Given the description of an element on the screen output the (x, y) to click on. 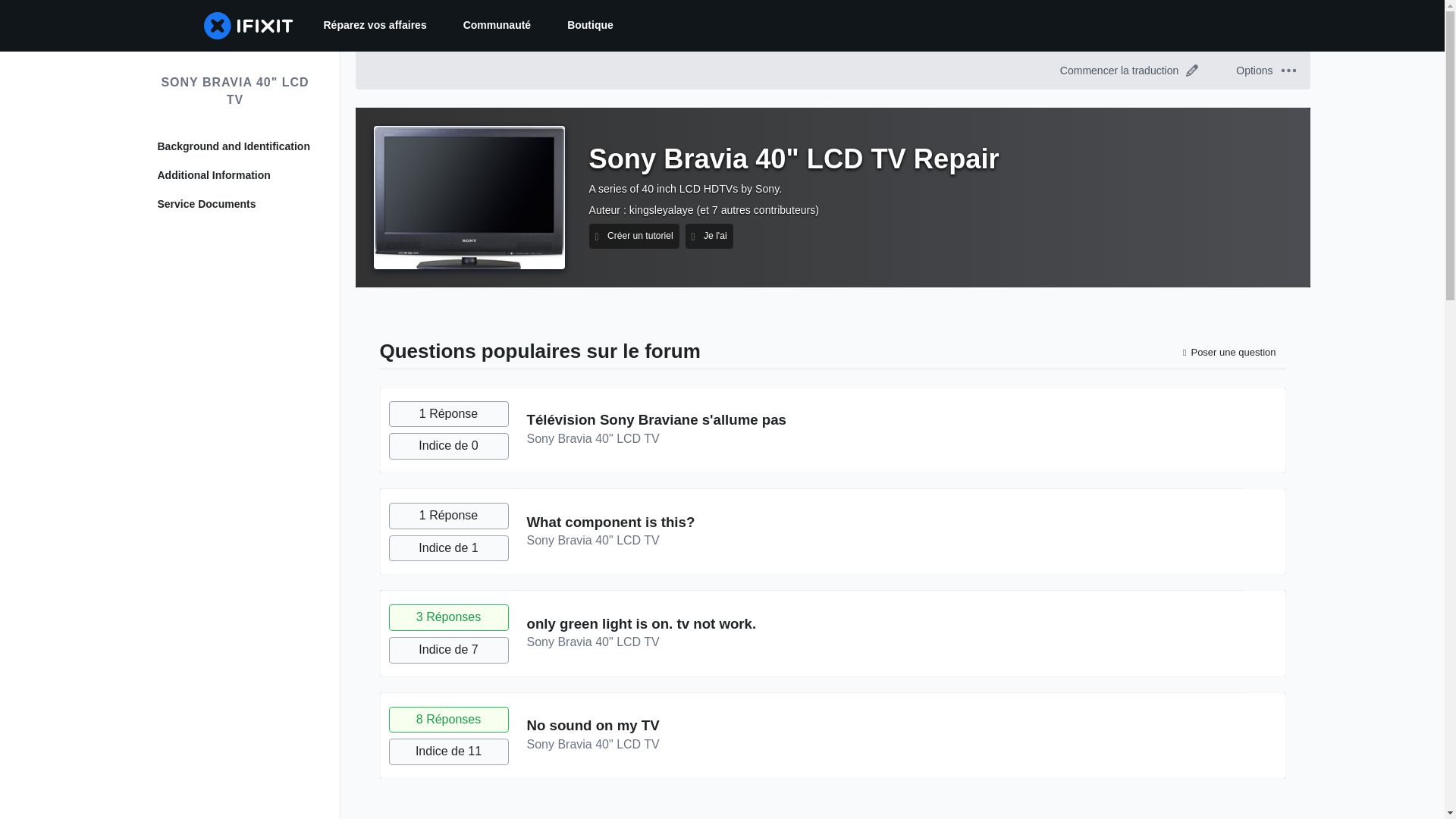
Sony Bravia 40" LCD TV (592, 744)
only green light is on. tv not work. (640, 623)
kingsleyalaye (661, 209)
Boutique (589, 25)
SONY BRAVIA 40" LCD TV (234, 91)
No sound on my TV (592, 725)
Additional Information (235, 175)
there is no sound on my TV (592, 725)
Options (1264, 70)
What component is this? (609, 521)
